Given the description of an element on the screen output the (x, y) to click on. 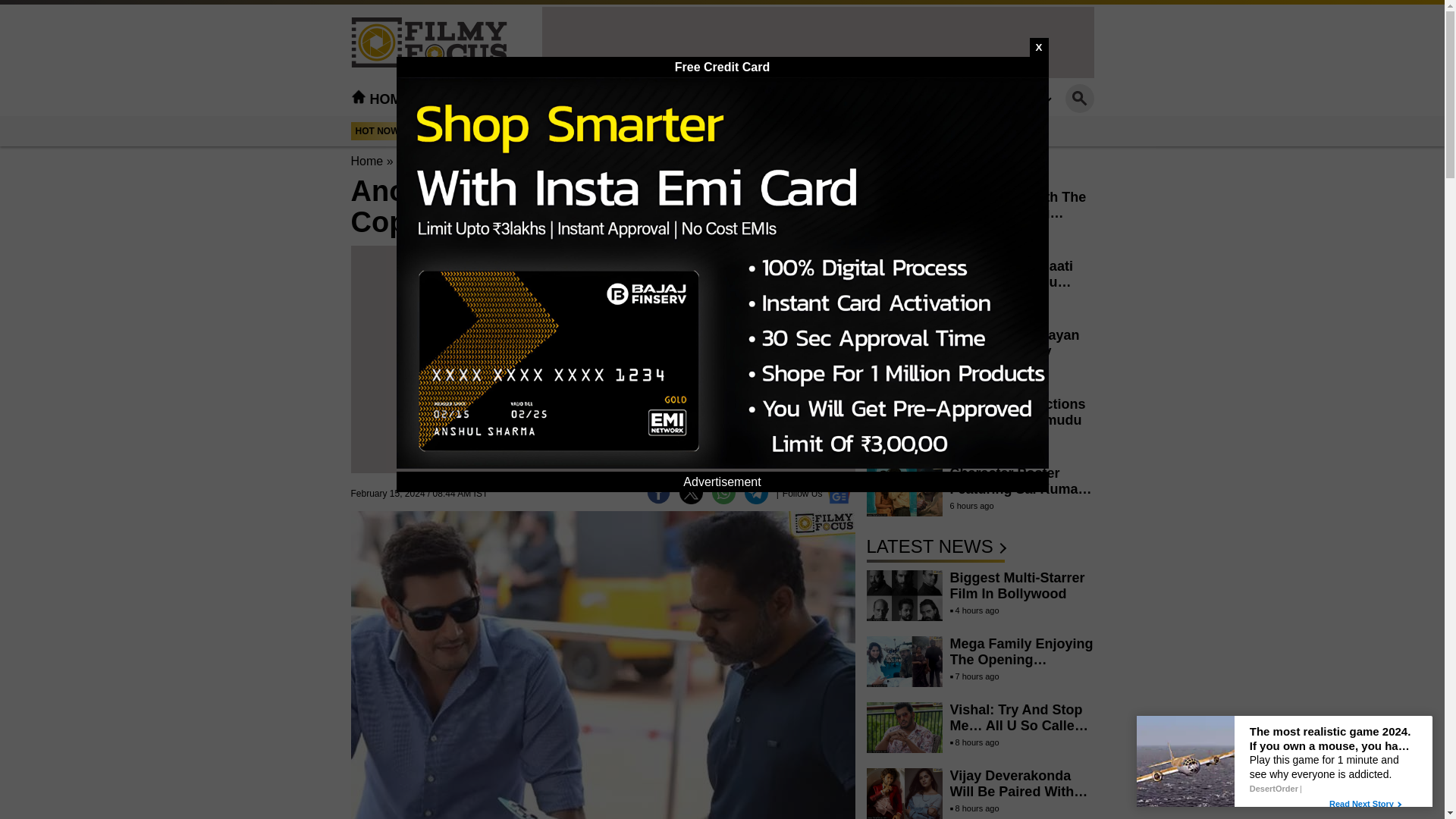
Advertisement (602, 367)
X (1038, 46)
OTT (644, 98)
Focus (821, 98)
FOCUS (821, 98)
Movie News (477, 98)
MOVIE NEWS (477, 98)
Home (366, 160)
Free Credit Card (721, 66)
HOME (380, 99)
COLLECTIONS (917, 98)
Reviews (576, 98)
Home (380, 99)
Collections (917, 98)
OTT (644, 98)
